Given the description of an element on the screen output the (x, y) to click on. 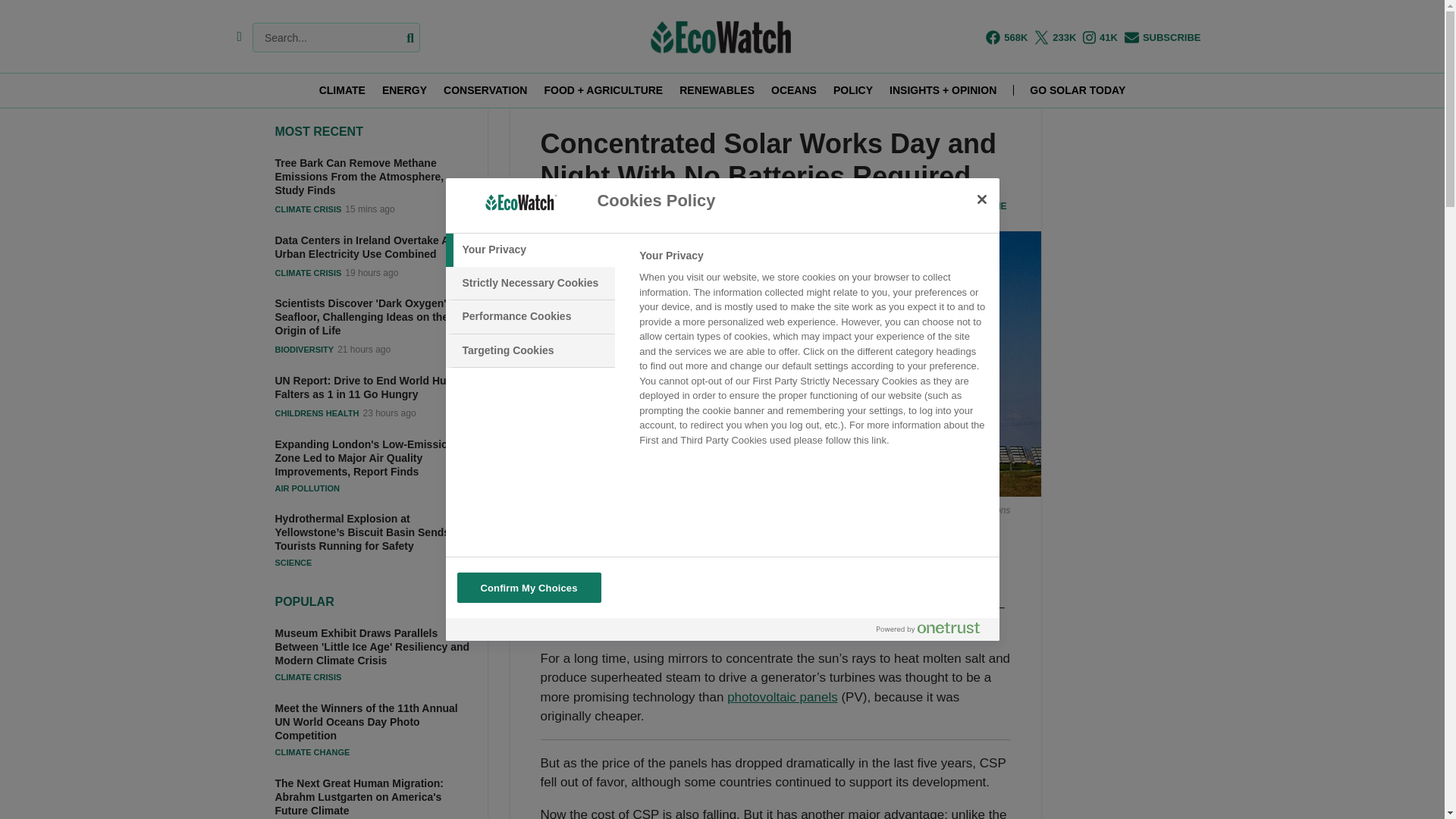
ENERGY (403, 90)
OCEANS (793, 90)
CONSERVATION (485, 90)
RENEWABLES (716, 90)
CLIMATE (341, 90)
41K (1099, 37)
GO SOLAR TODAY (1077, 90)
POLICY (852, 90)
Powered by OneTrust Opens in a new Tab (927, 627)
SUBSCRIBE (1162, 37)
233K (1054, 37)
568K (1006, 37)
